Given the description of an element on the screen output the (x, y) to click on. 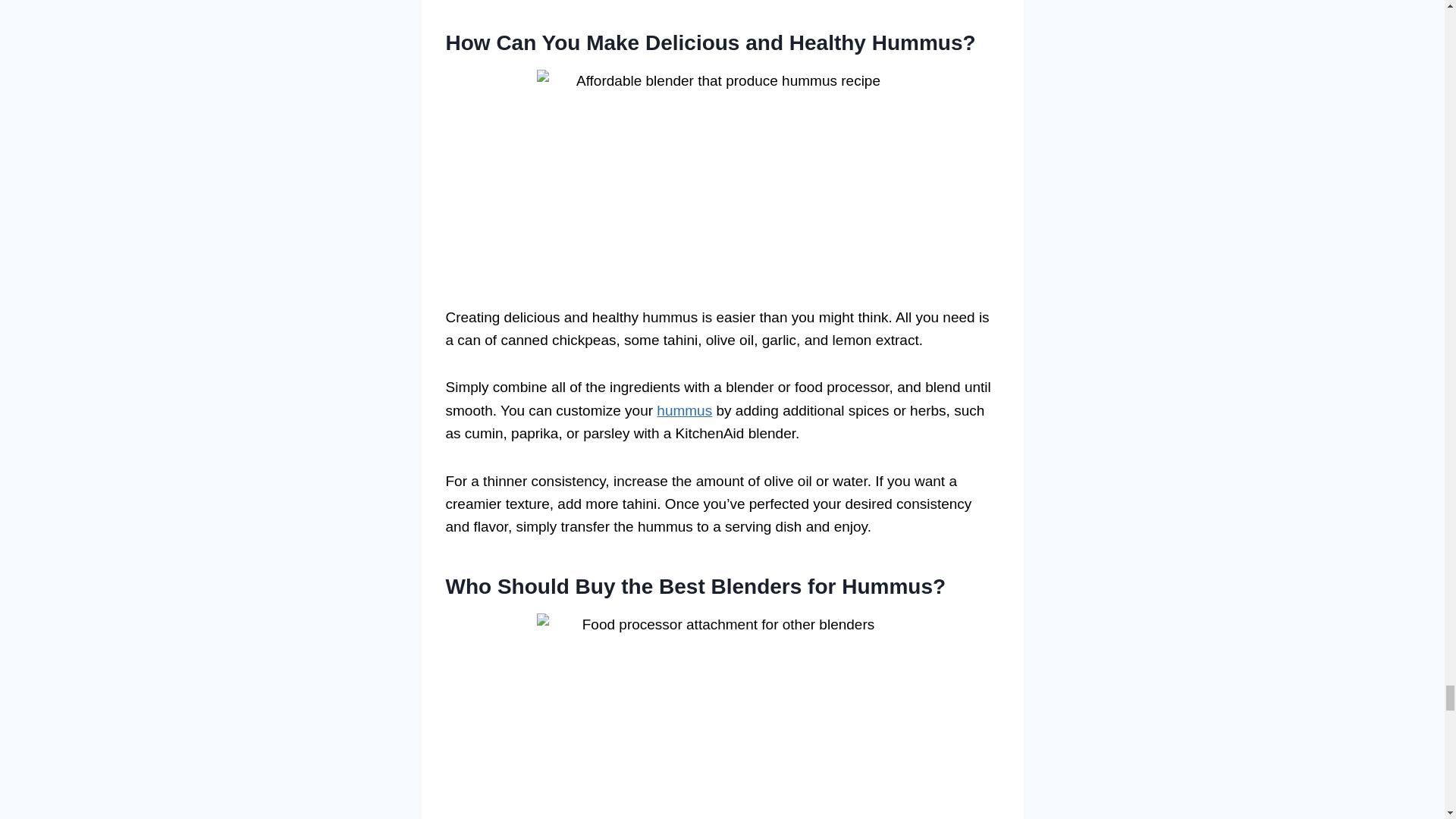
hummus (683, 410)
